Given the description of an element on the screen output the (x, y) to click on. 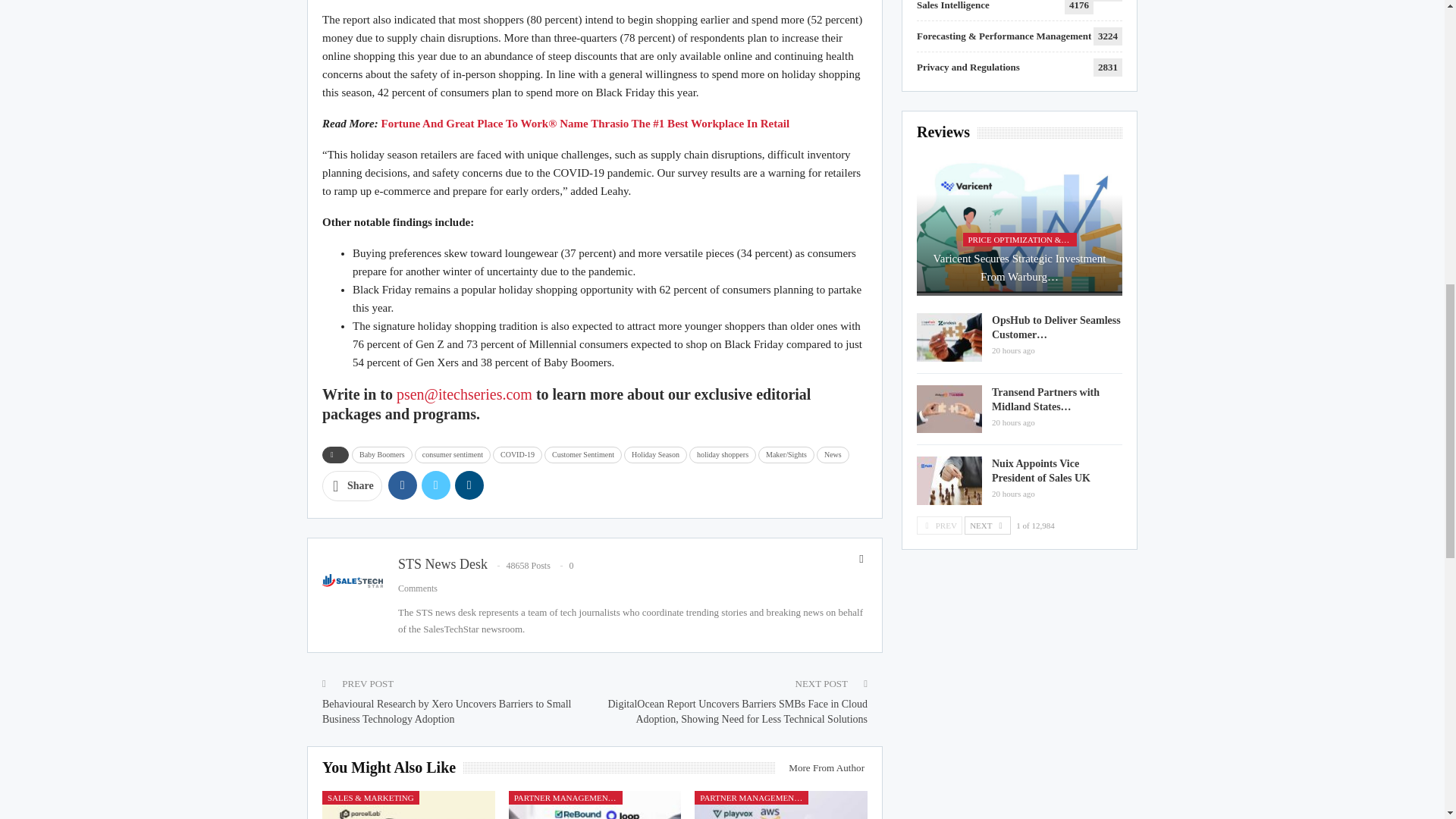
Loop and ReBound Announce Omnichannel Returns Partnership (594, 805)
